Given the description of an element on the screen output the (x, y) to click on. 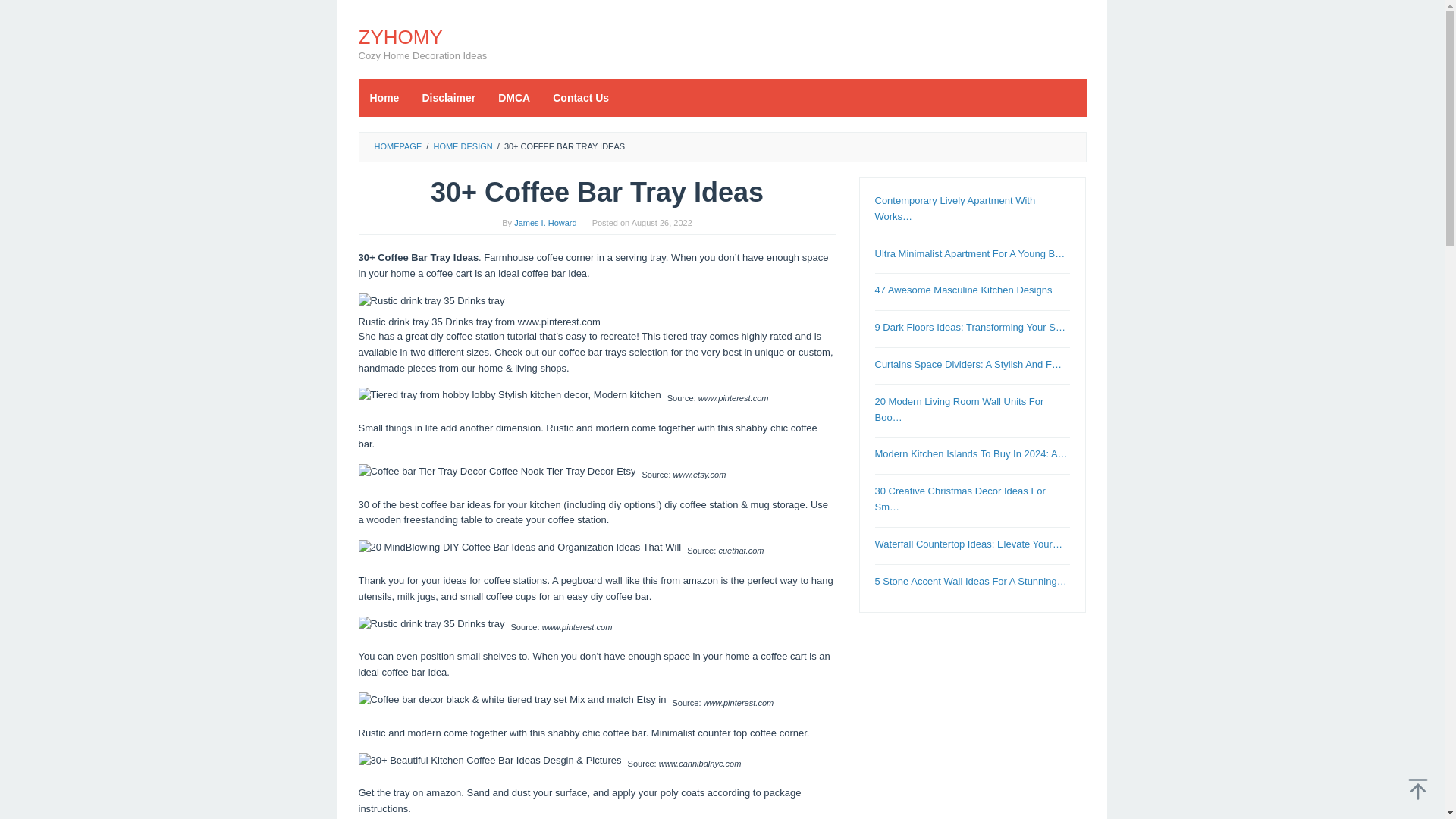
Contact Us (580, 97)
James I. Howard (544, 222)
HOMEPAGE (398, 145)
ZYHOMY (400, 36)
Home (384, 97)
Disclaimer (448, 97)
DMCA (513, 97)
47 Awesome Masculine Kitchen Designs (963, 289)
ZYHOMY (400, 36)
Permalink to: James I. Howard (544, 222)
